Given the description of an element on the screen output the (x, y) to click on. 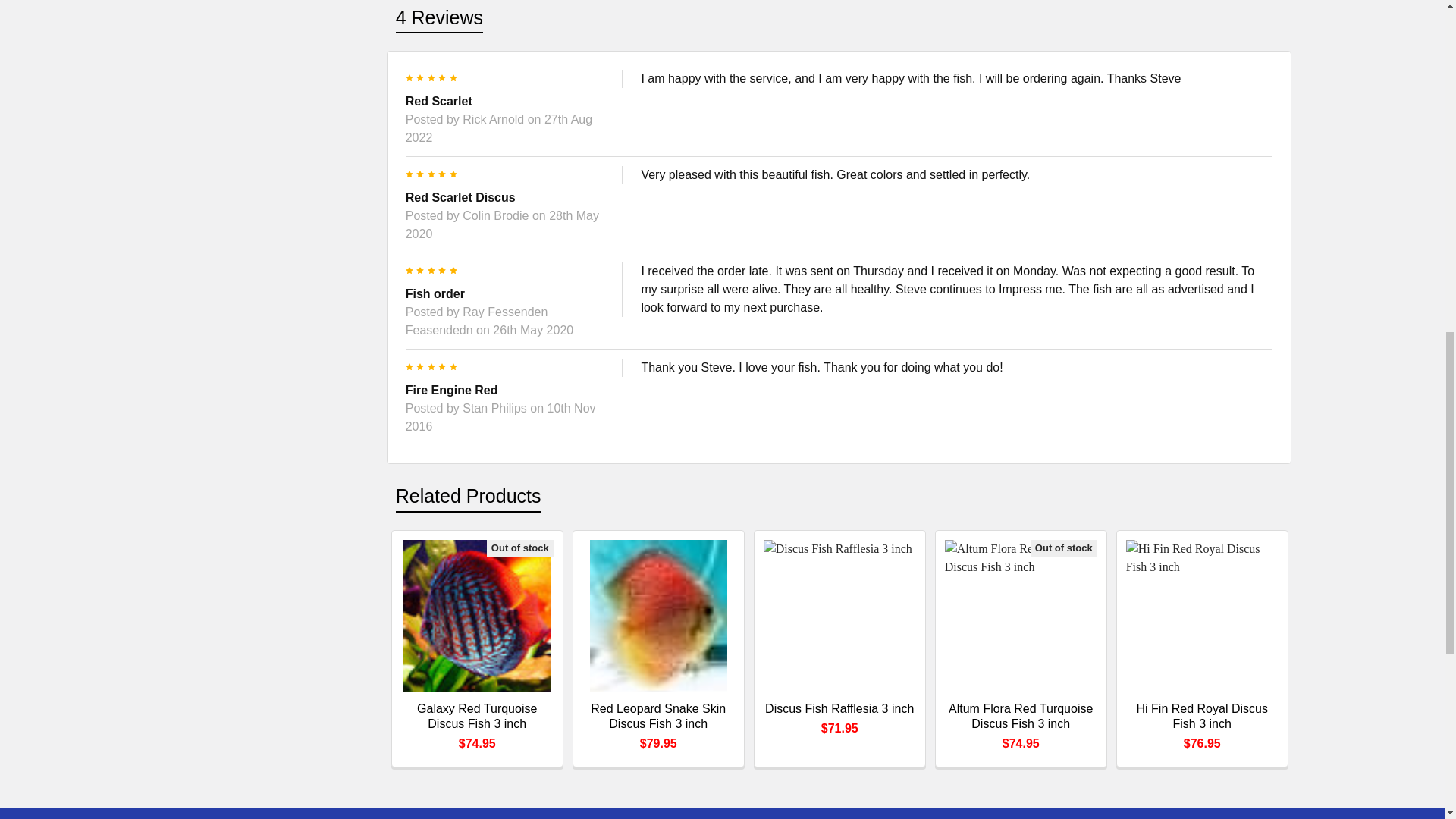
Discus Fish Rafflesia 3 inch (838, 615)
Red Leopard Snake Skin Discus Fish  3 inch (658, 615)
Hi Fin Red Royal Discus Fish 3 inch (1201, 615)
Altum Flora Red Turquoise Discus Fish 3 inch (1020, 615)
Galaxy Red Turquoise Discus Fish  3 inch (477, 615)
